Given the description of an element on the screen output the (x, y) to click on. 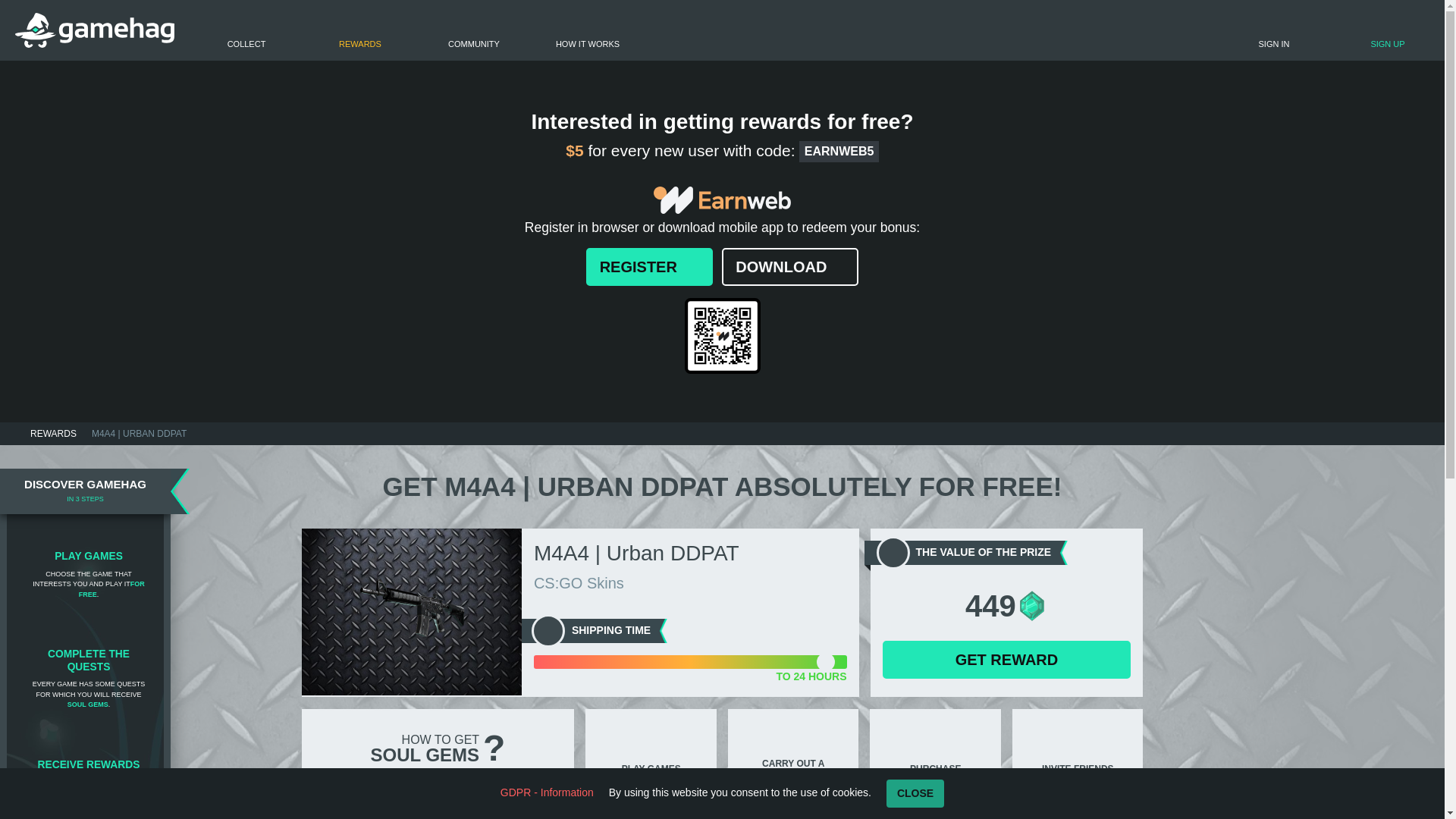
REWARDS (53, 433)
Gamehag - rewards for playing games (94, 30)
SIGN UP (1330, 35)
receive commercial information.. (1323, 4)
INVITE FRIENDS (1076, 749)
DOWNLOAD (790, 266)
Store (359, 30)
PURCHASE (935, 749)
About us (588, 30)
COLLECT (245, 30)
REGISTER (649, 266)
GET REWARD (1006, 659)
PLAY GAMES (650, 749)
CARRY OUT A CONTRACT (793, 749)
Articles (473, 30)
